Given the description of an element on the screen output the (x, y) to click on. 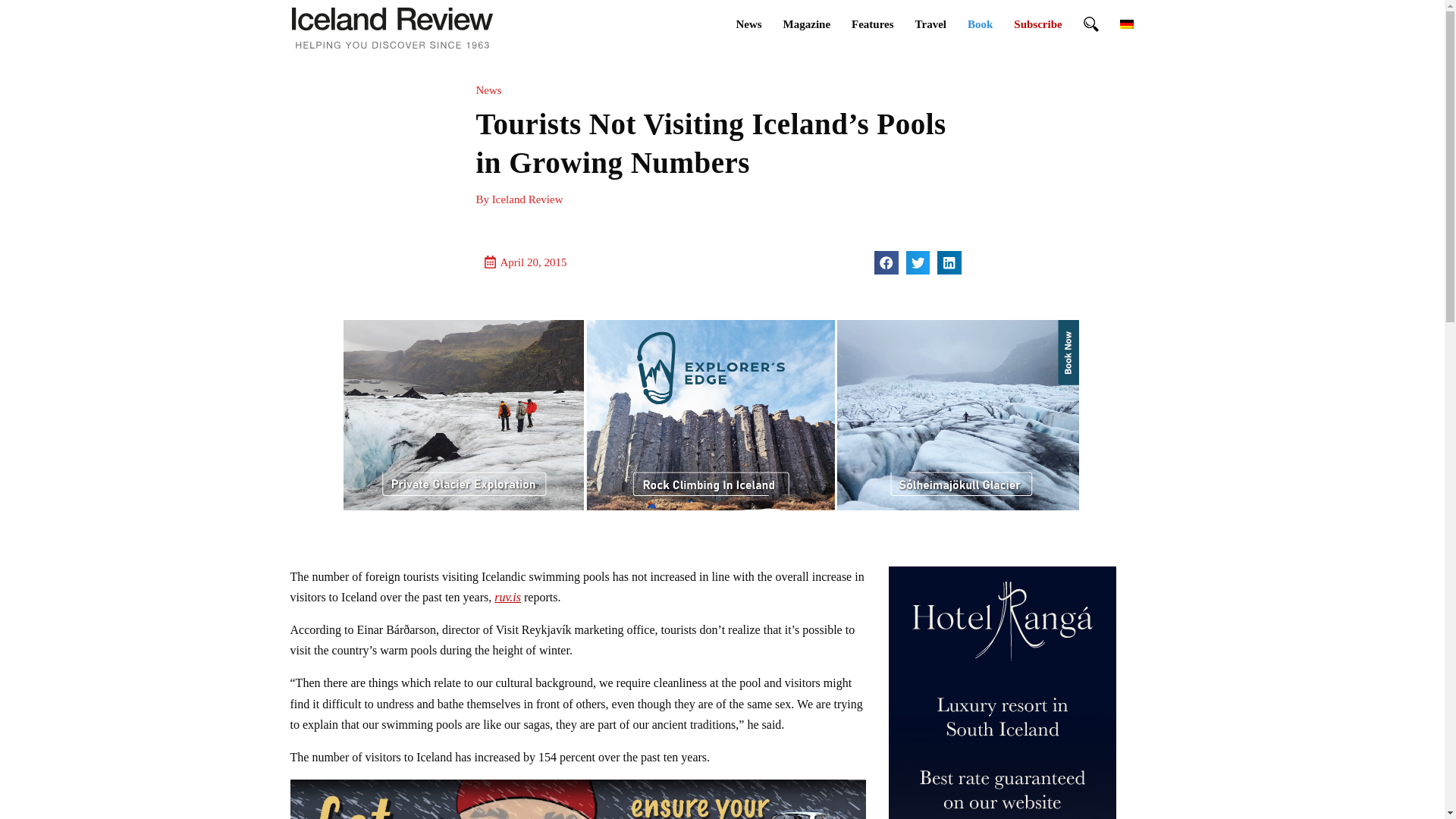
Features (872, 23)
News (748, 23)
Book (979, 23)
Magazine (807, 23)
Travel (930, 23)
Subscribe (1037, 23)
